Given the description of an element on the screen output the (x, y) to click on. 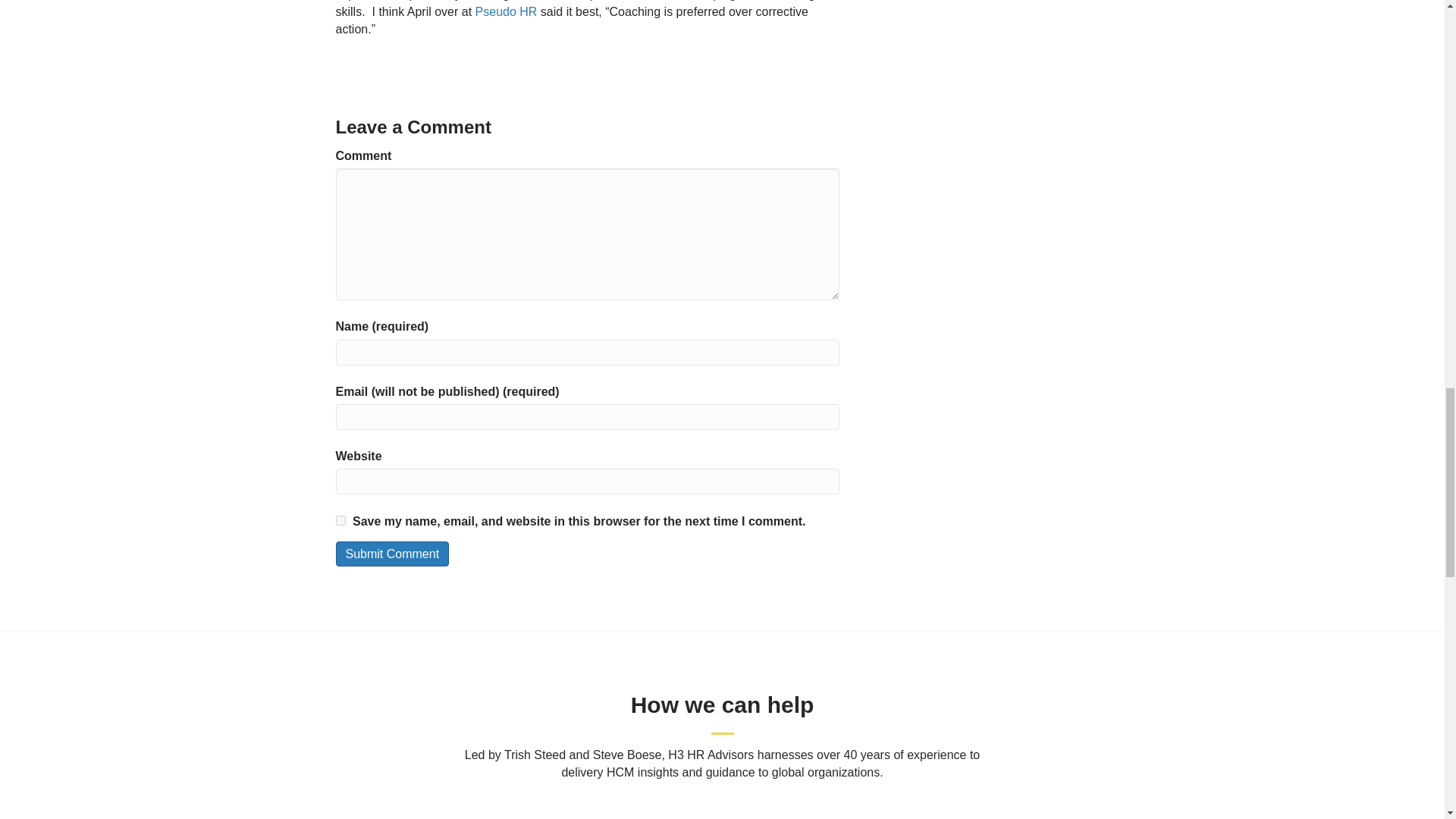
Submit Comment (391, 553)
Submit Comment (391, 553)
yes (339, 520)
Pseudo HR (506, 11)
